Given the description of an element on the screen output the (x, y) to click on. 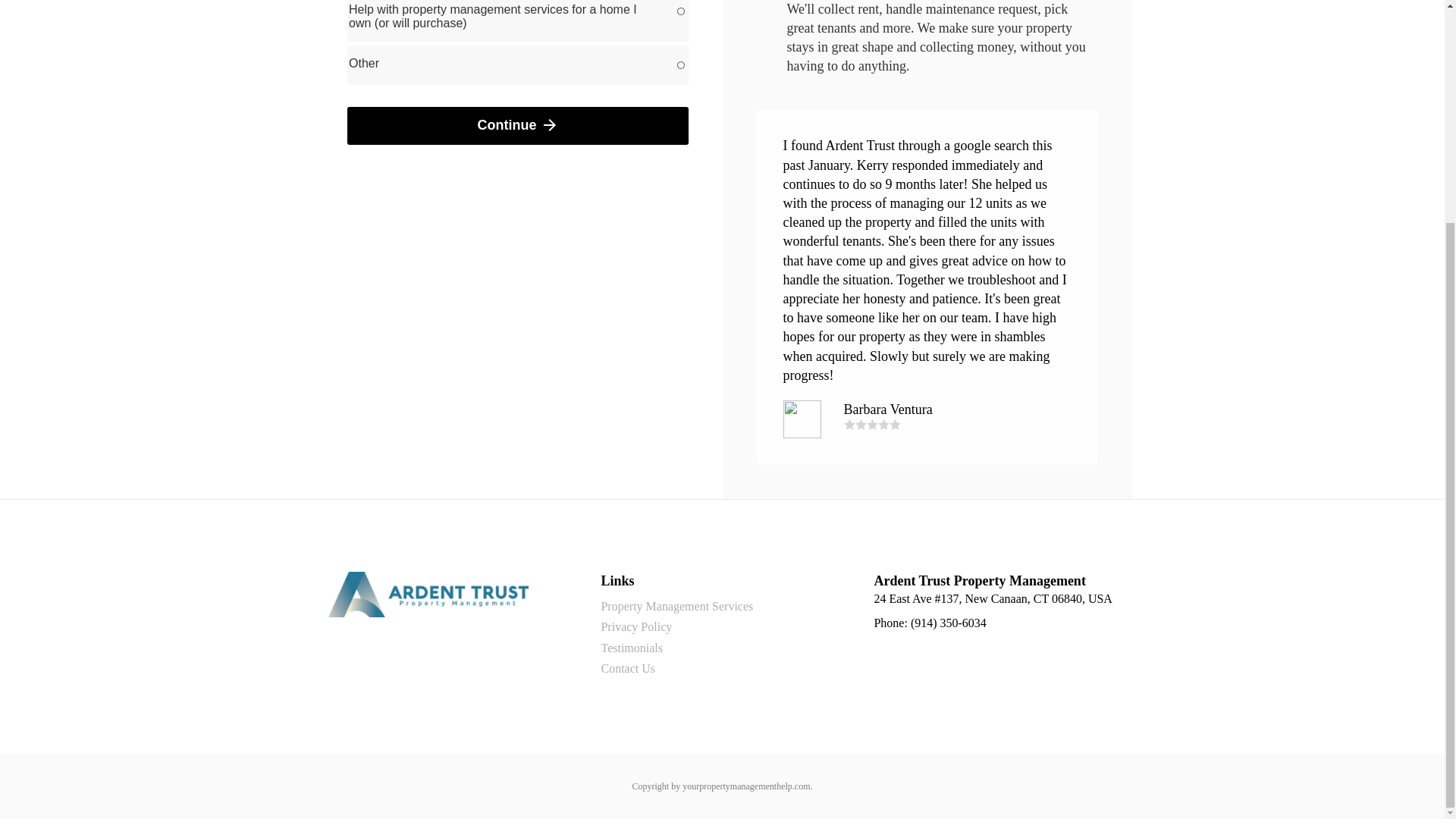
Privacy Policy (635, 627)
Embedded form (517, 83)
Contact Us (627, 668)
Testimonials (630, 647)
Property Management Services (675, 606)
